Given the description of an element on the screen output the (x, y) to click on. 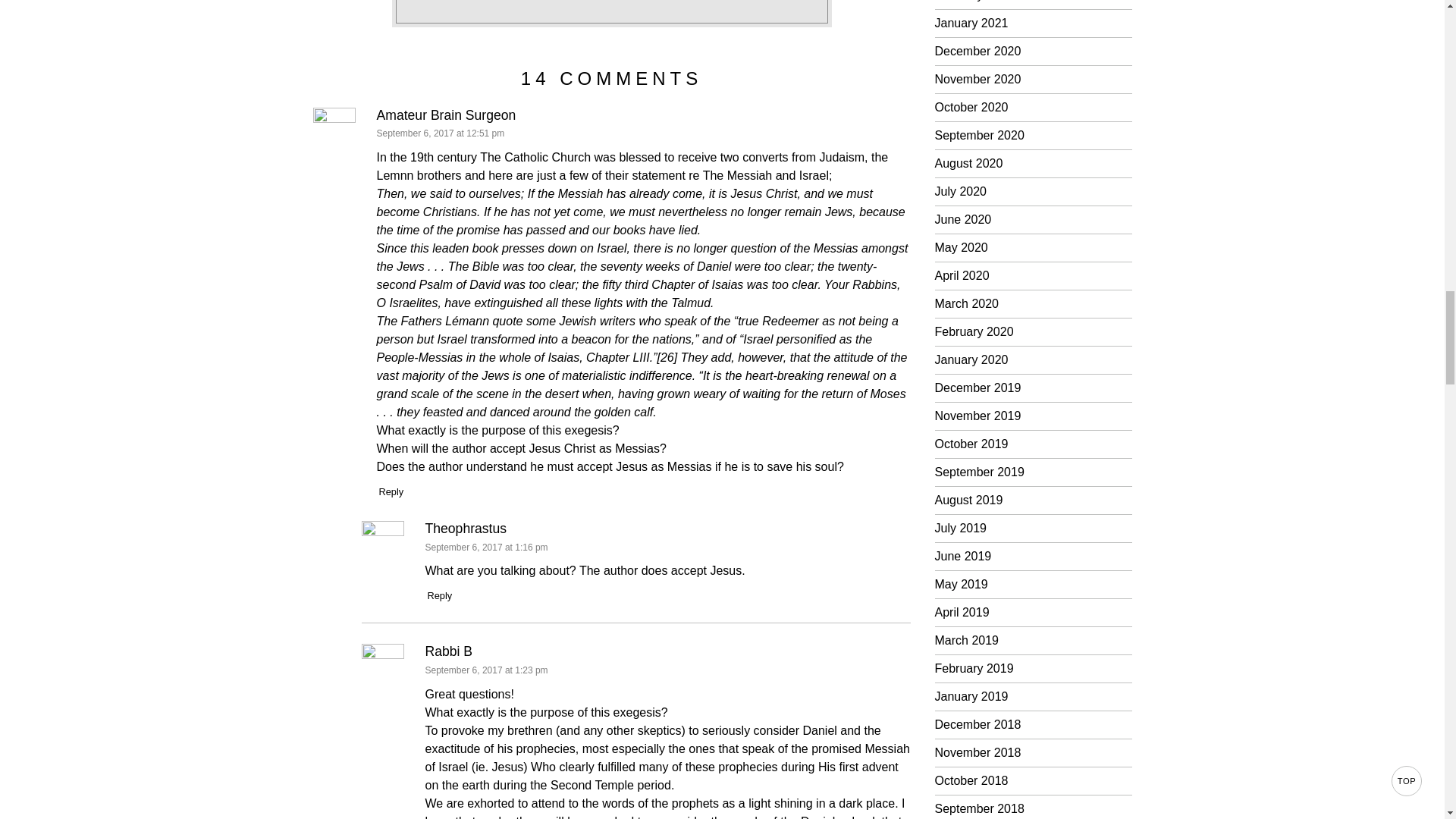
Reply (390, 491)
September 6, 2017 at 1:23 pm (486, 670)
September 6, 2017 at 12:51 pm (439, 132)
September 6, 2017 at 1:16 pm (486, 547)
Reply (439, 594)
